Given the description of an element on the screen output the (x, y) to click on. 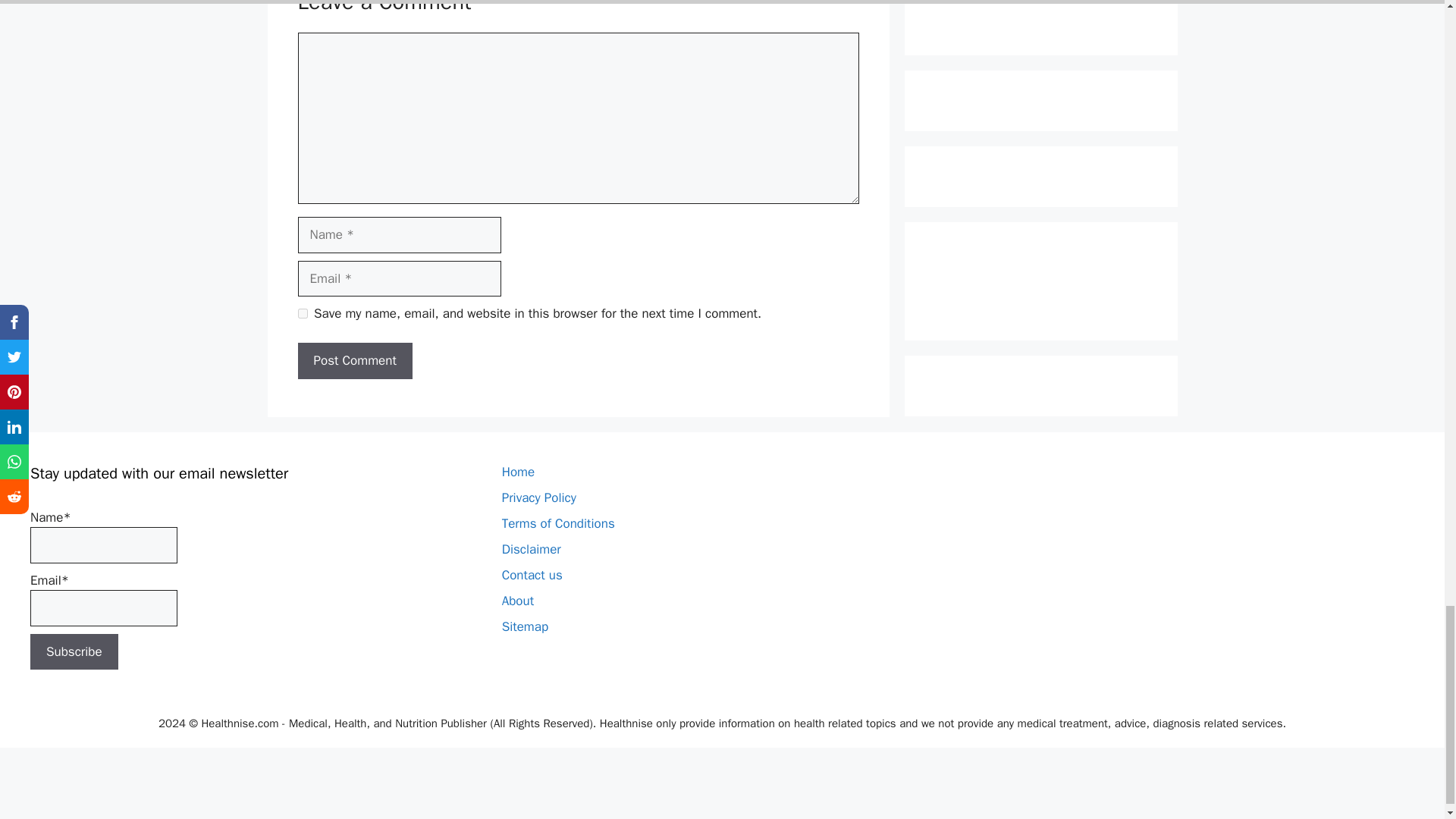
yes (302, 313)
Post Comment (354, 361)
Subscribe (73, 651)
